Given the description of an element on the screen output the (x, y) to click on. 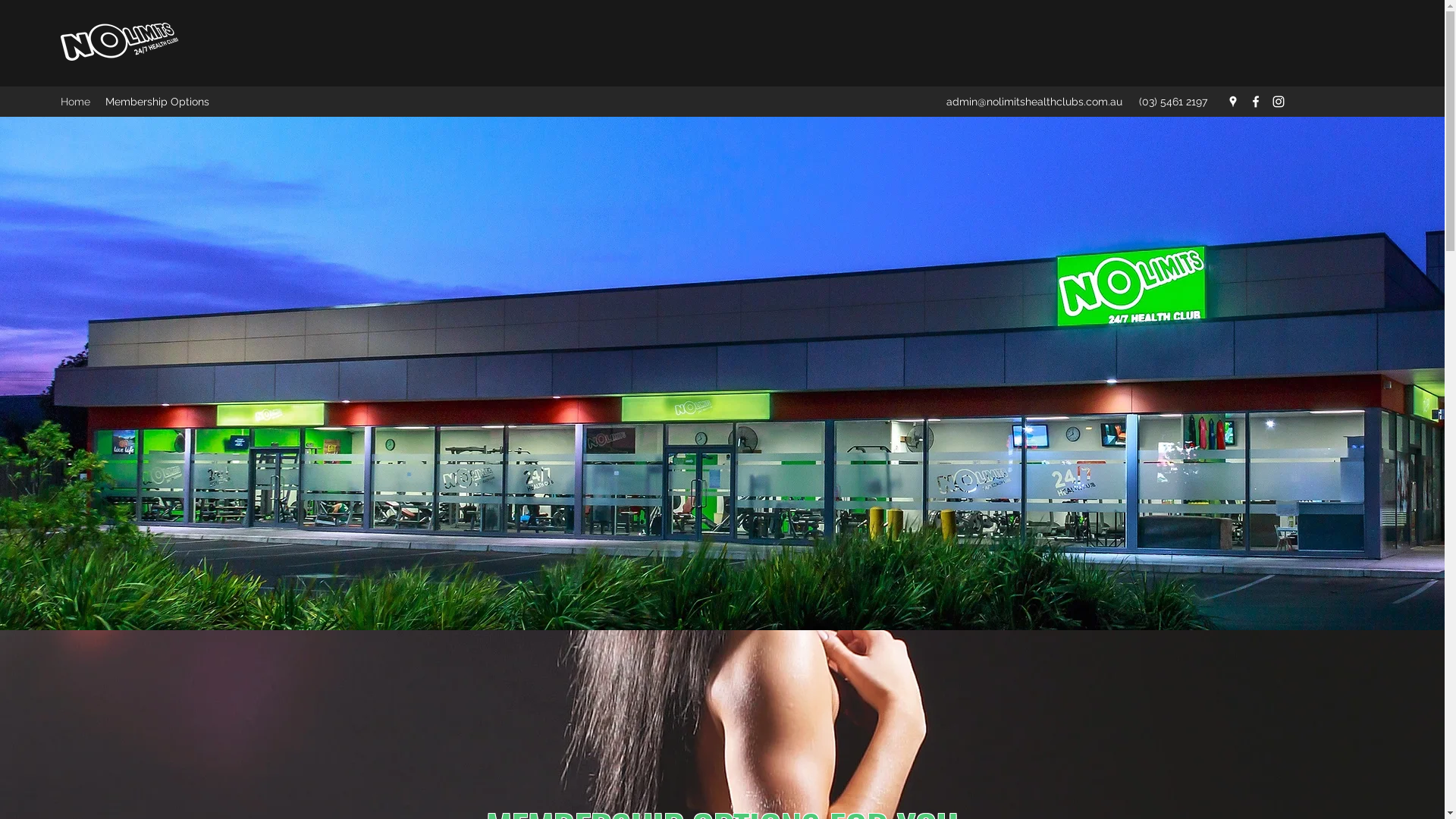
Home Element type: text (75, 101)
admin@nolimitshealthclubs.com.au Element type: text (1034, 101)
Membership Options Element type: text (156, 101)
